Given the description of an element on the screen output the (x, y) to click on. 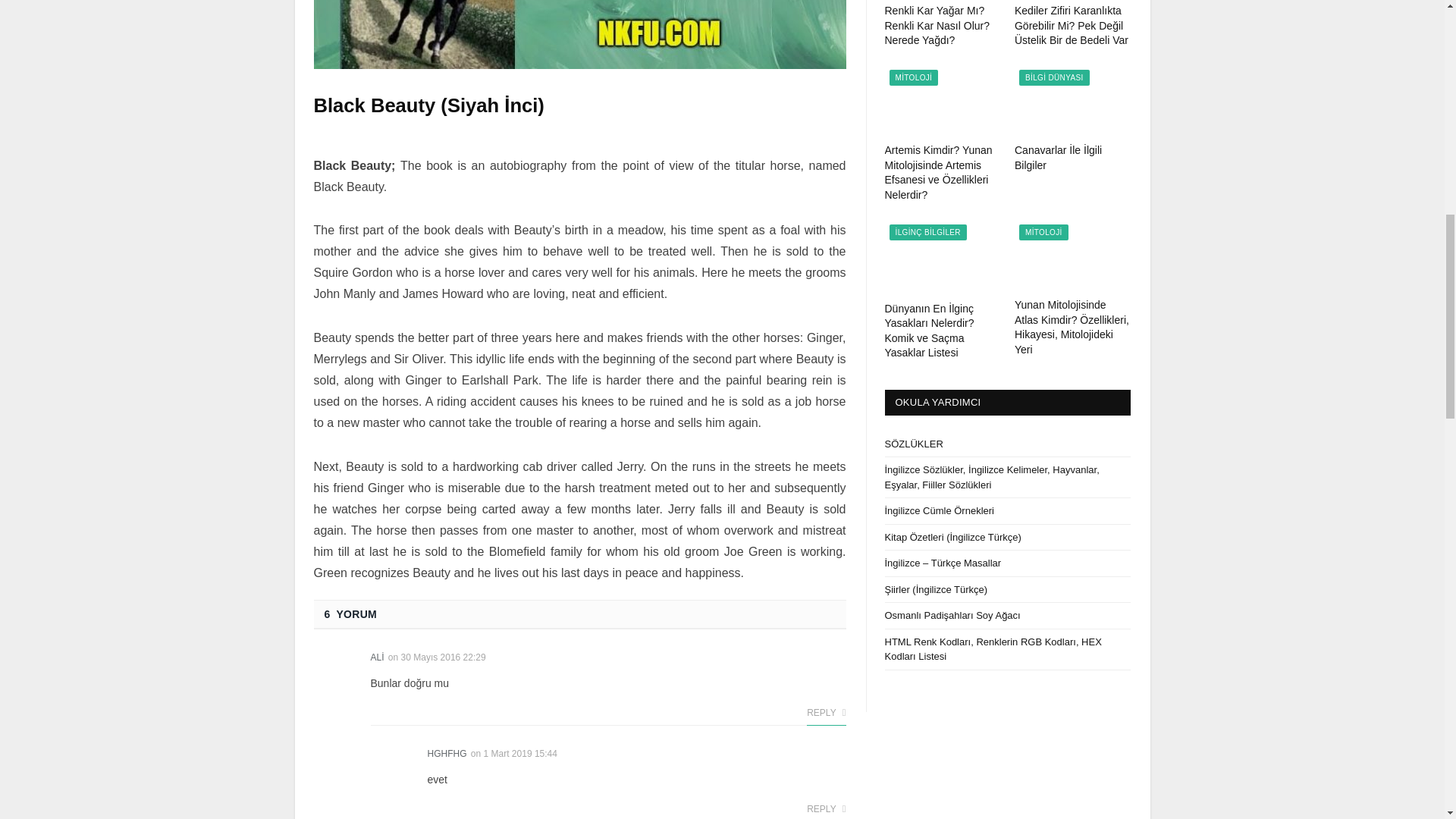
REPLY (825, 712)
REPLY (825, 808)
1 Mart 2019 15:44 (520, 753)
